Given the description of an element on the screen output the (x, y) to click on. 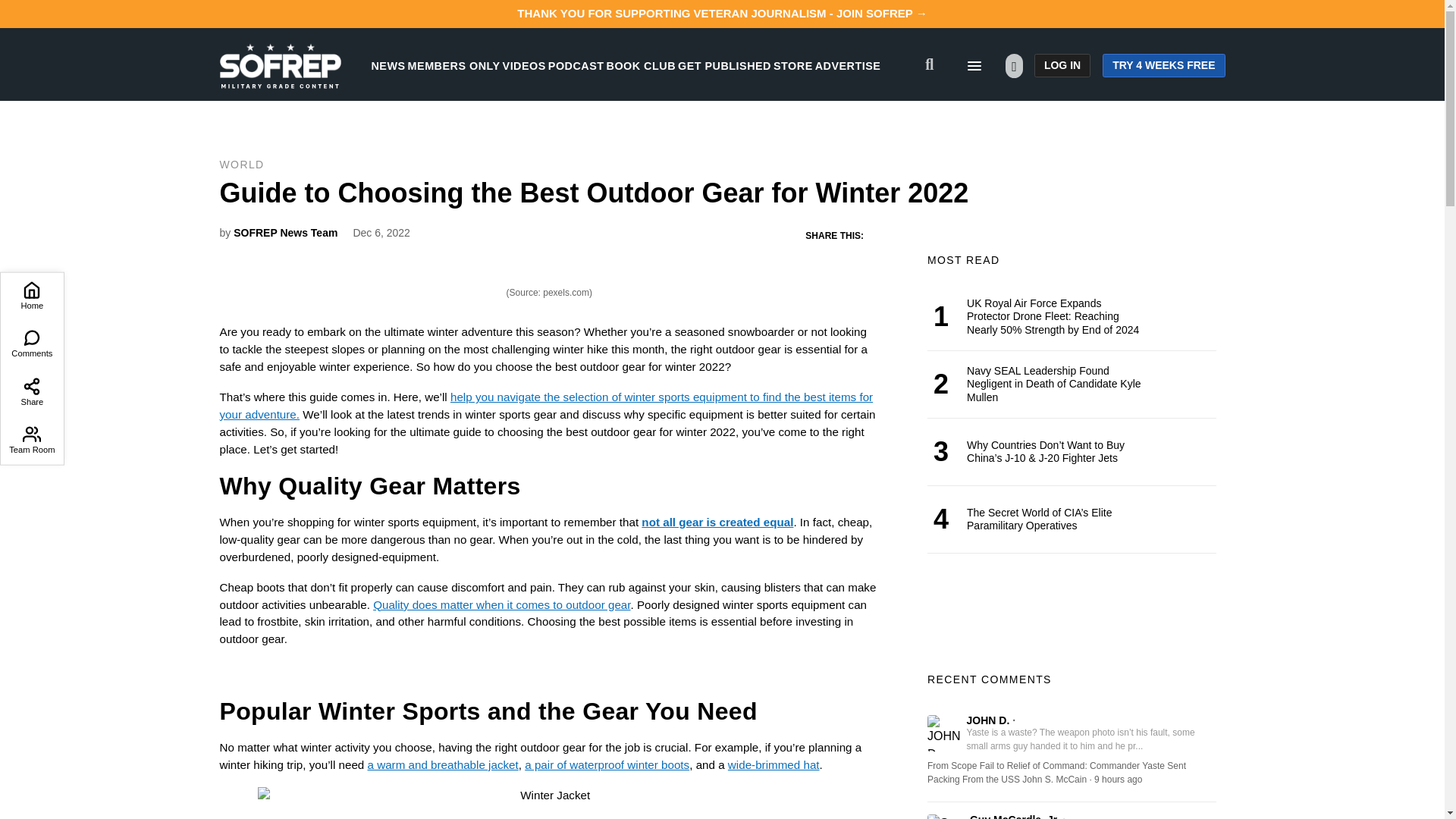
MEMBERS ONLY (453, 65)
PODCAST (576, 65)
GET PUBLISHED (724, 65)
TRY 4 WEEKS FREE (1163, 65)
STORE (792, 65)
BOOK CLUB (641, 65)
NEWS (388, 65)
LOG IN (1061, 65)
VIDEOS (524, 65)
ADVERTISE (847, 65)
